Given the description of an element on the screen output the (x, y) to click on. 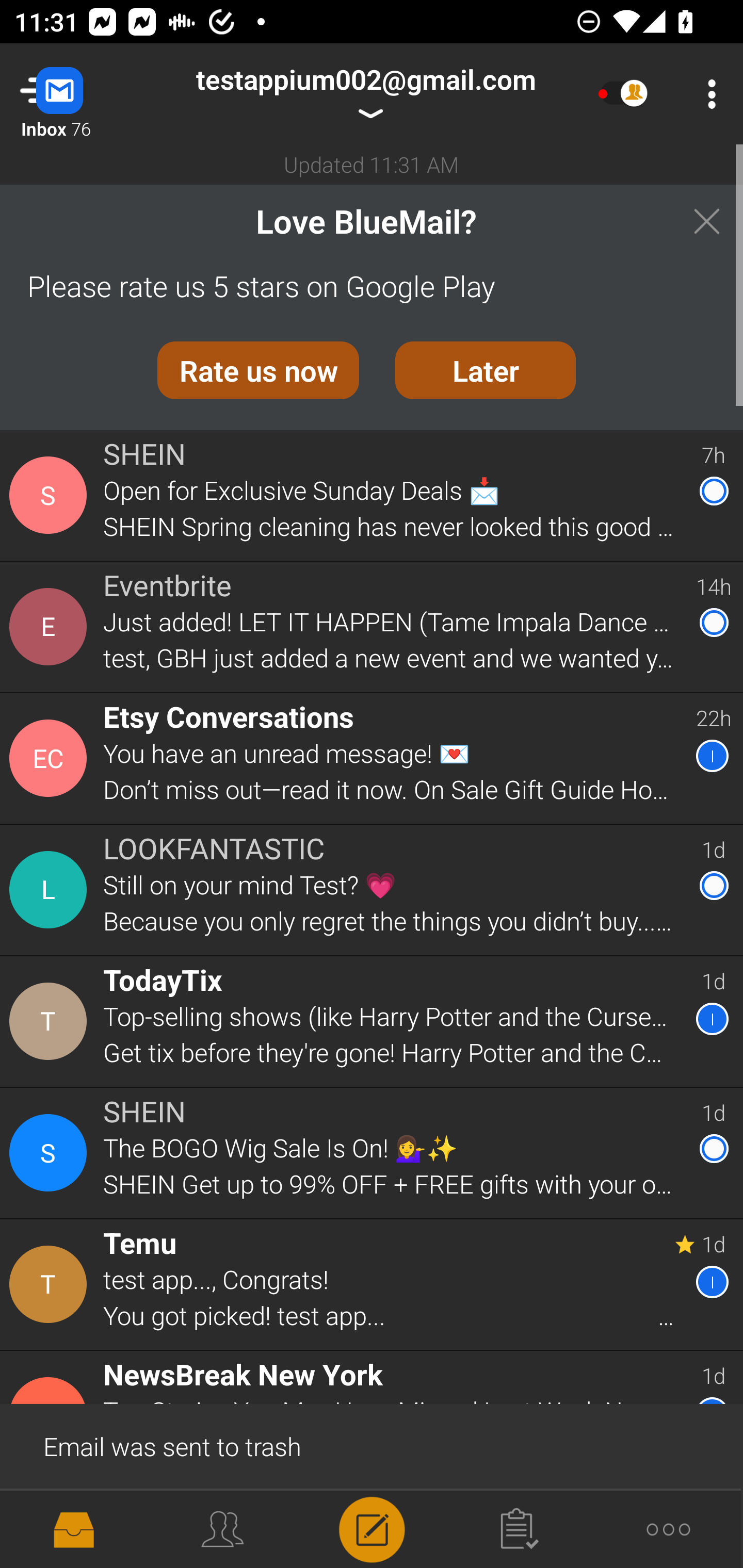
Navigate up (81, 93)
testappium002@gmail.com (365, 93)
More Options (706, 93)
Updated 11:31 AM (371, 164)
Rate us now (257, 370)
Later (485, 370)
Contact Details (50, 495)
Contact Details (50, 626)
Contact Details (50, 758)
Contact Details (50, 889)
Contact Details (50, 1021)
Contact Details (50, 1153)
Contact Details (50, 1284)
Email was sent to trash (371, 1445)
Compose (371, 1528)
